Given the description of an element on the screen output the (x, y) to click on. 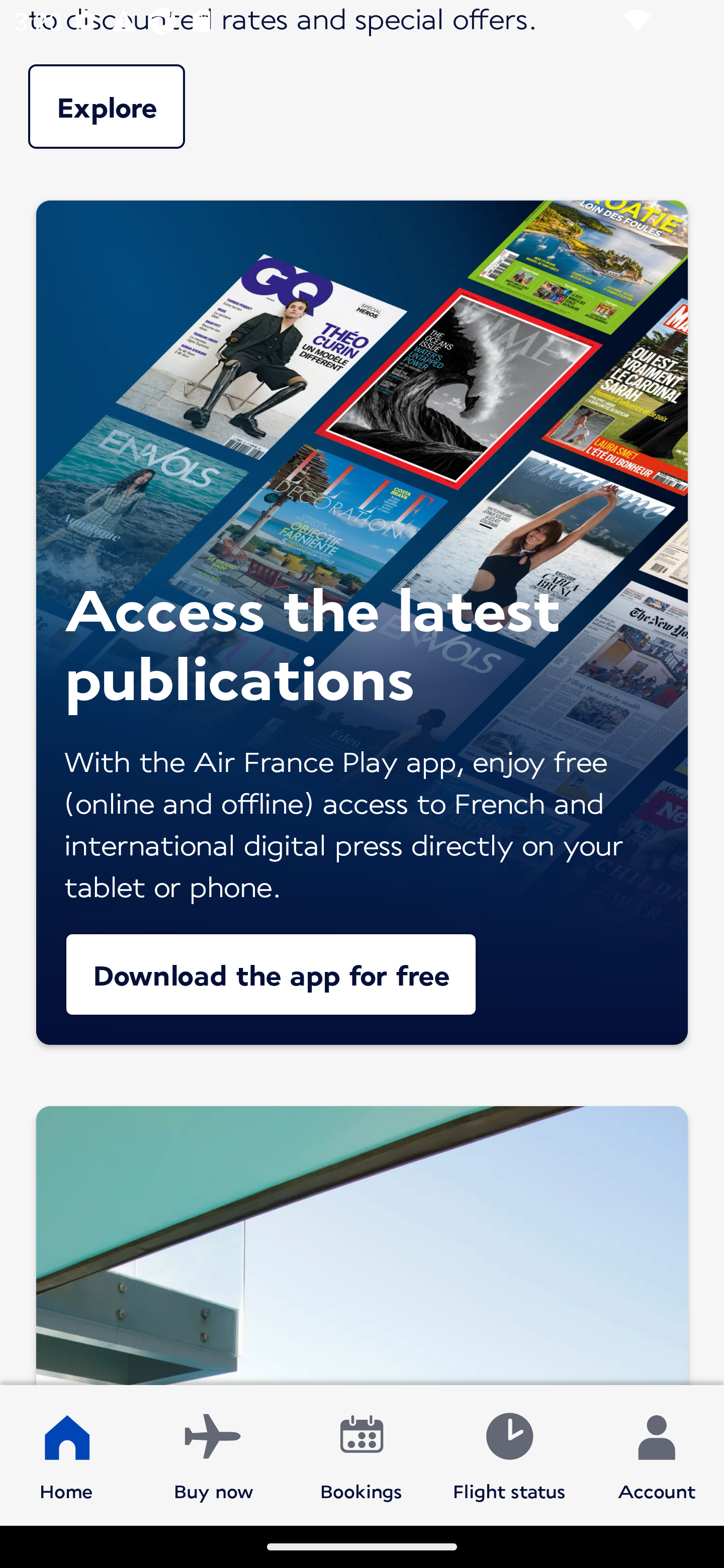
Explore (362, 95)
Buy now (213, 1454)
Bookings (361, 1454)
Flight status (509, 1454)
Account (657, 1454)
